Given the description of an element on the screen output the (x, y) to click on. 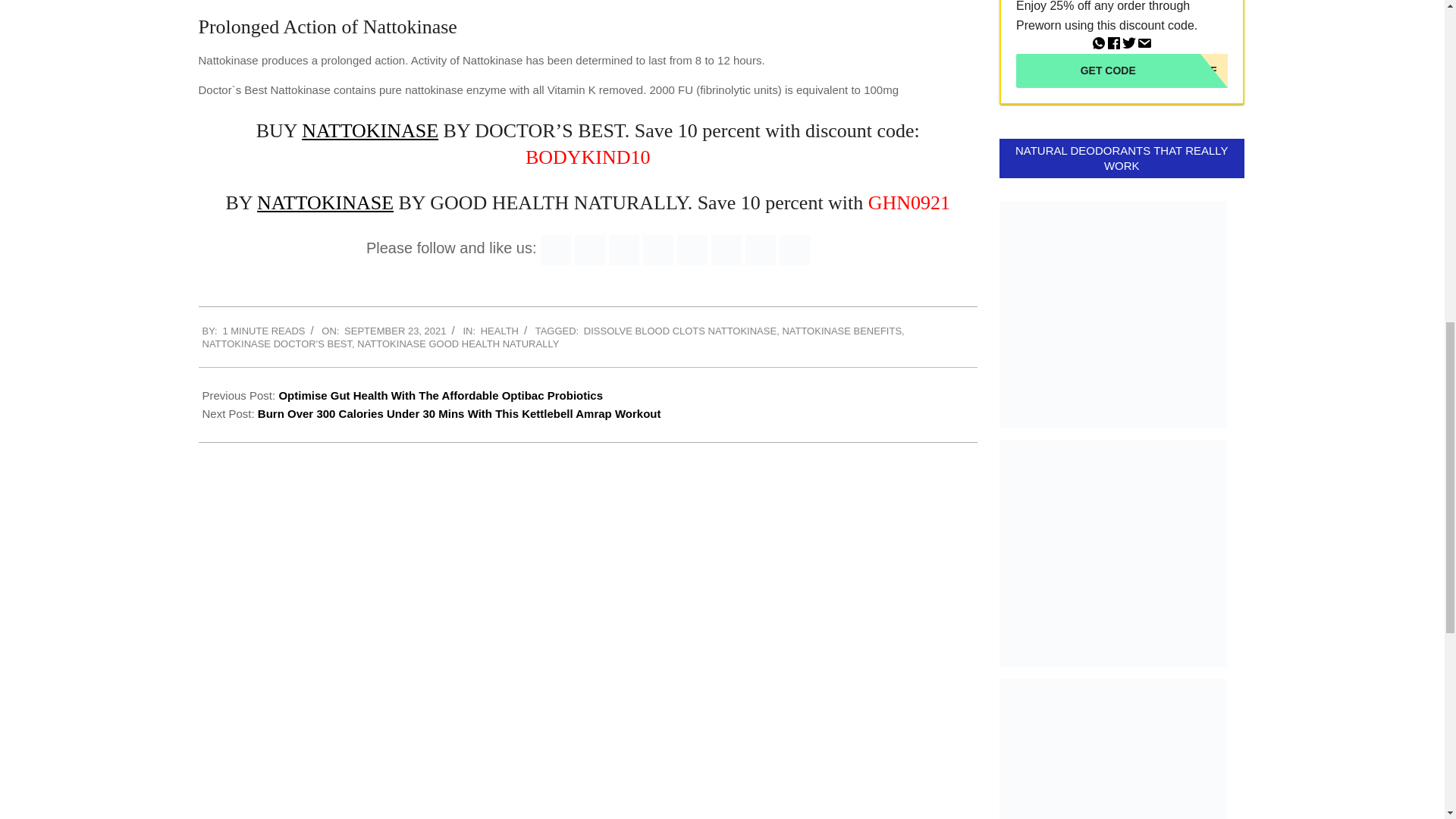
Facebook (623, 250)
NATTOKINASE (369, 130)
RSS (555, 250)
Follow by Email (590, 250)
NATTOKINASE (325, 202)
